Given the description of an element on the screen output the (x, y) to click on. 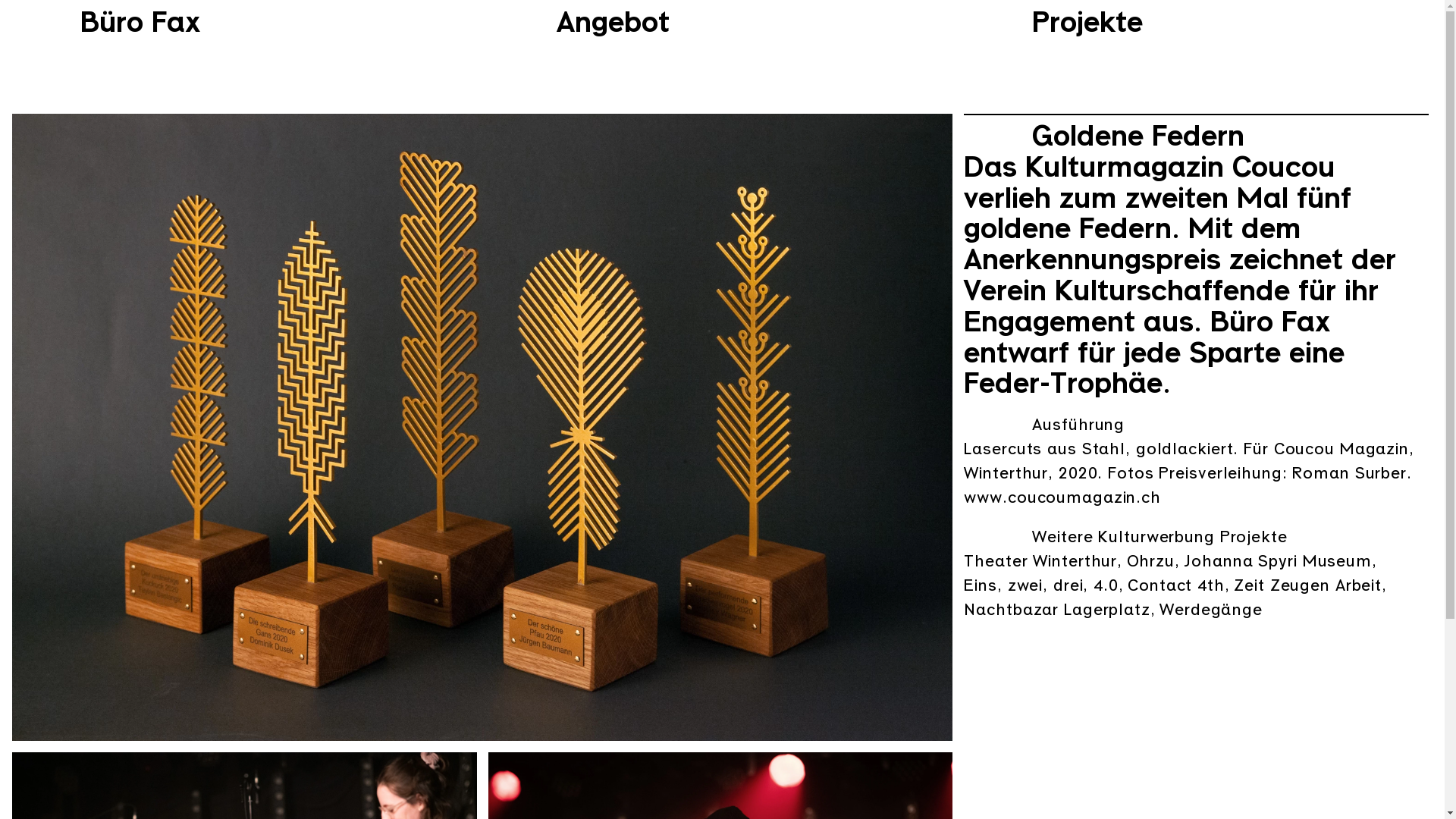
Zeit Zeugen Arbeit Element type: text (1307, 583)
Projekte Element type: text (1087, 19)
Eins, zwei, drei, 4.0 Element type: text (1040, 583)
Contact 4th Element type: text (1175, 583)
Ohrzu Element type: text (1150, 559)
www.coucoumagazin.ch Element type: text (1062, 495)
Angebot Element type: text (612, 19)
Johanna Spyri Museum Element type: text (1277, 559)
Theater Winterthur Element type: text (1040, 559)
Nachtbazar Lagerplatz Element type: text (1056, 607)
